Given the description of an element on the screen output the (x, y) to click on. 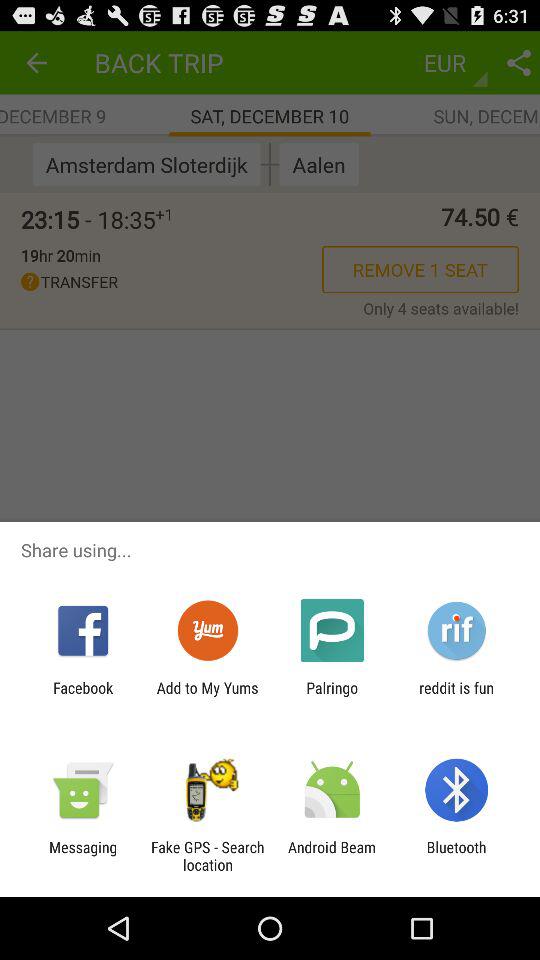
flip until add to my (207, 696)
